Given the description of an element on the screen output the (x, y) to click on. 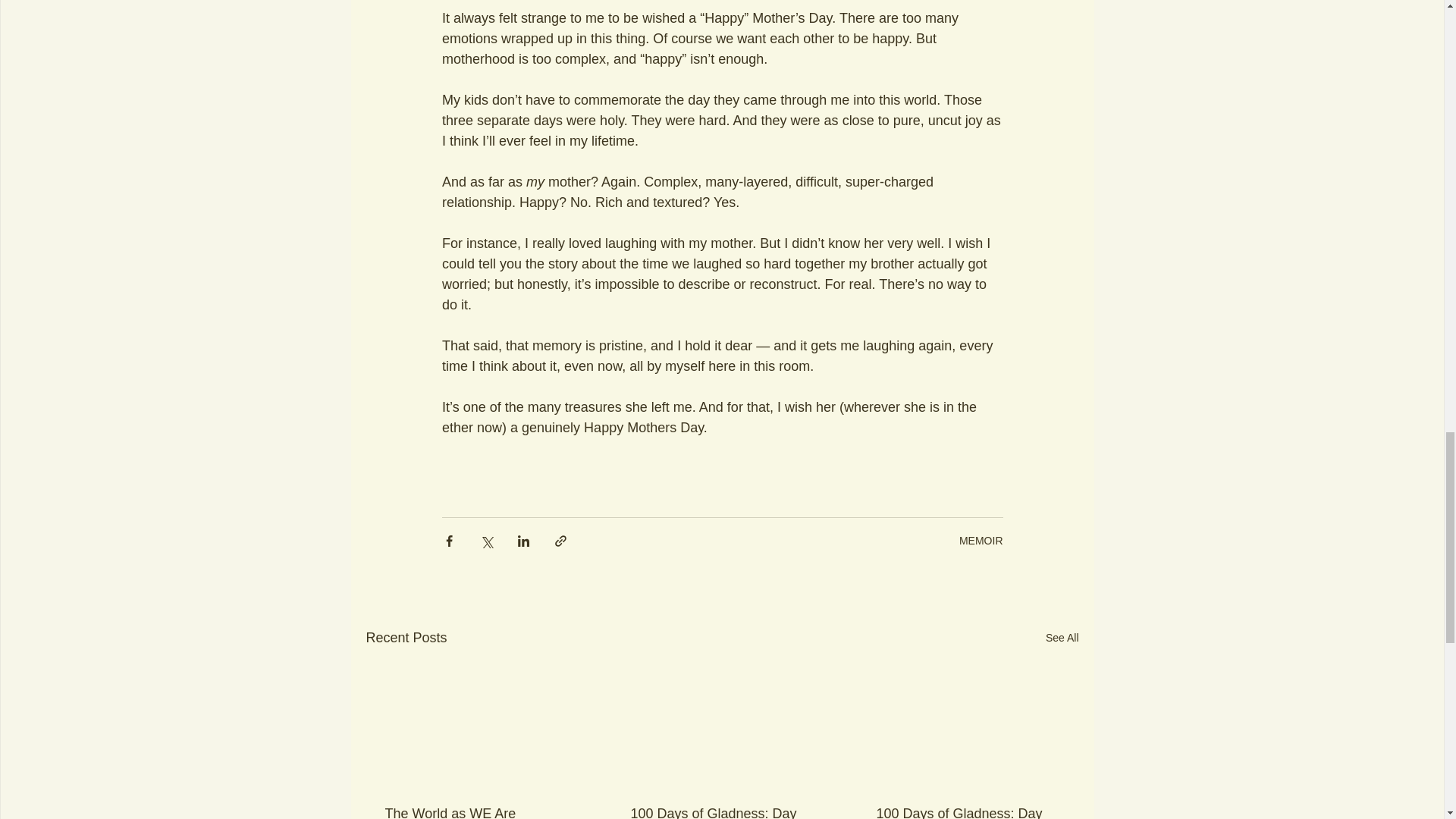
MEMOIR (981, 540)
The World as WE Are (476, 812)
100 Days of Gladness: Day 38 (721, 812)
See All (1061, 638)
100 Days of Gladness: Day 37 (967, 812)
